Given the description of an element on the screen output the (x, y) to click on. 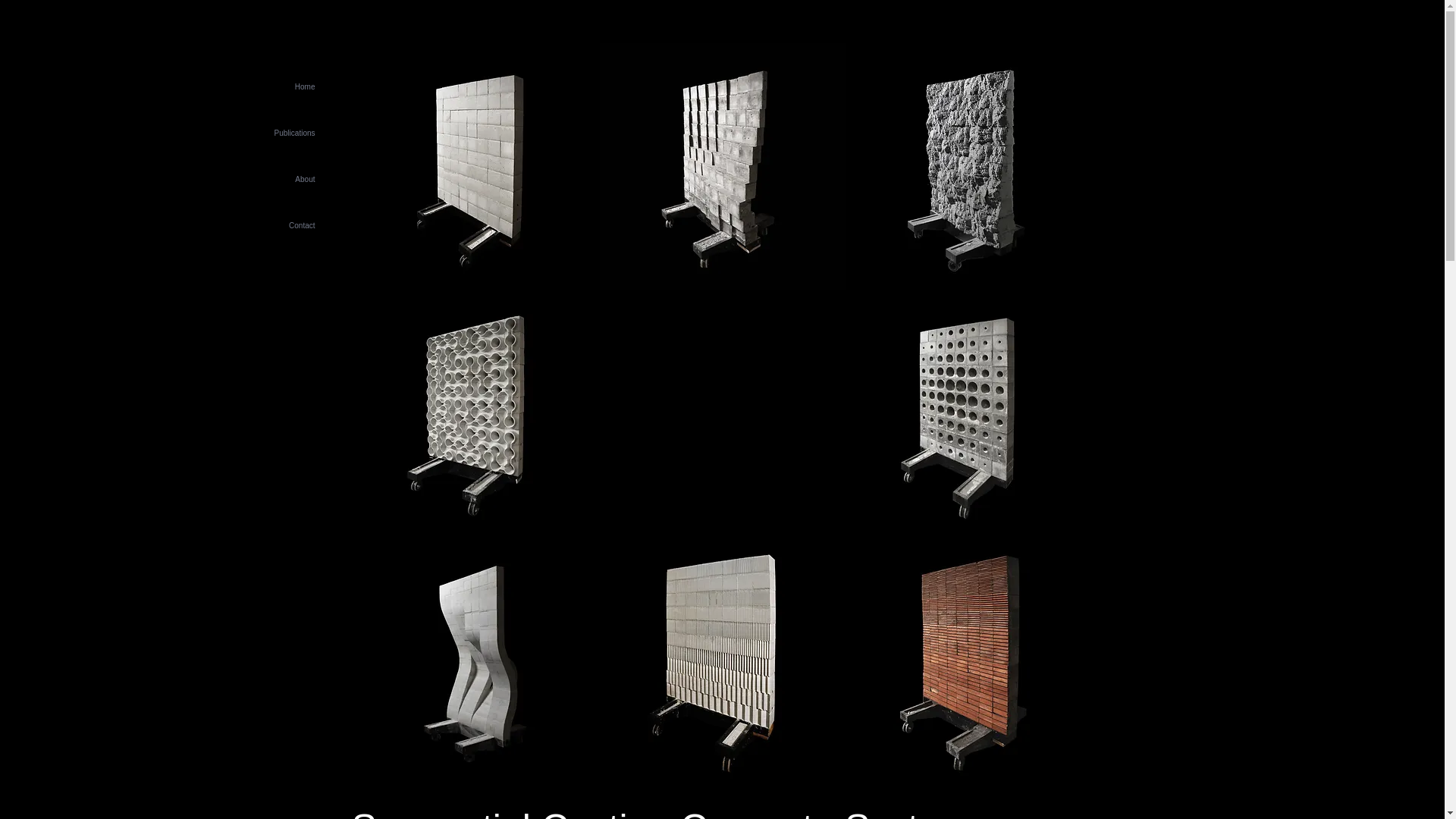
About (261, 179)
Contact (261, 225)
Home (261, 86)
Publications (261, 132)
